Given the description of an element on the screen output the (x, y) to click on. 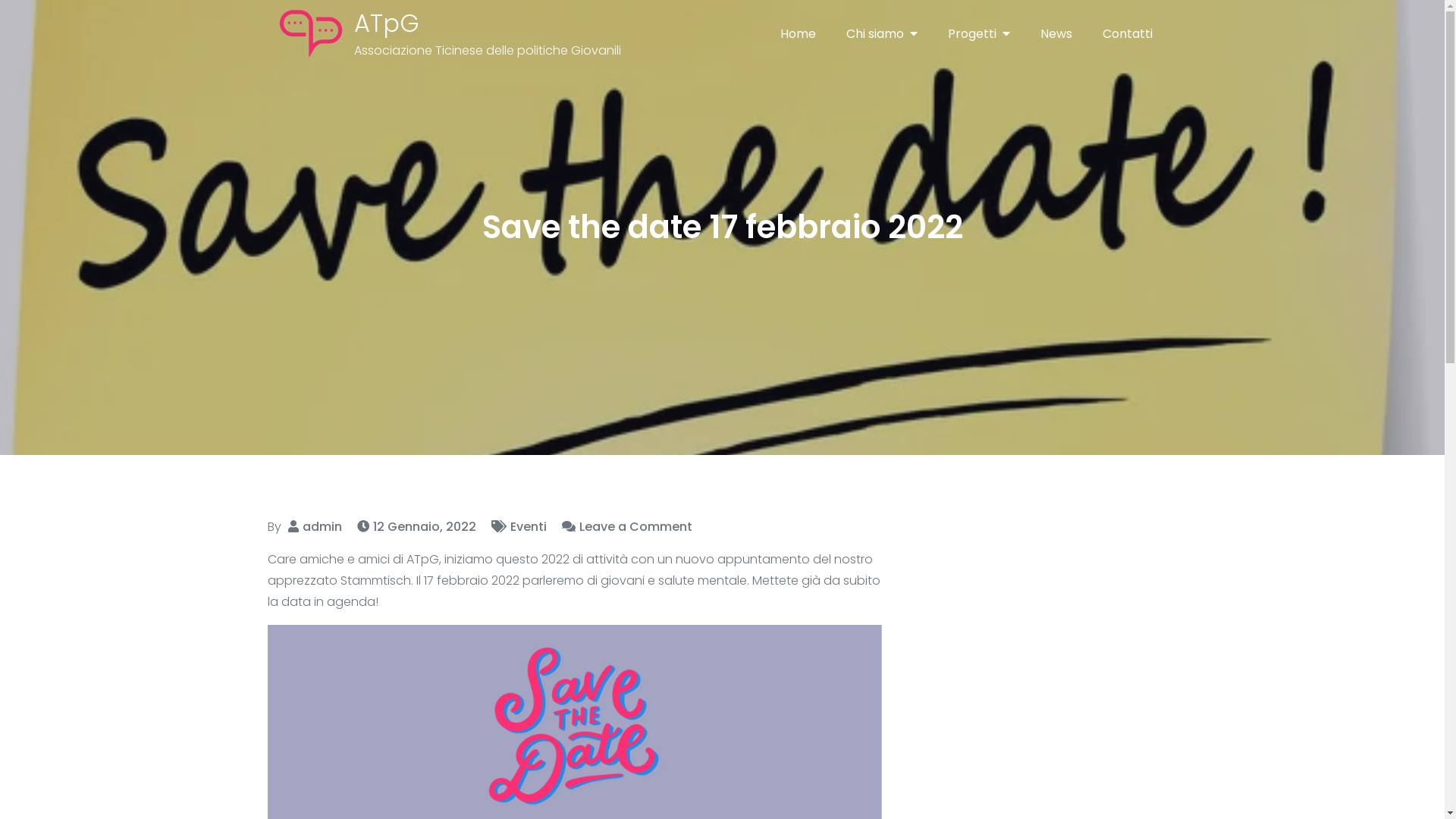
Progetti Element type: text (978, 33)
admin Element type: text (321, 526)
12 Gennaio, 2022 Element type: text (415, 526)
Eventi Element type: text (527, 526)
Leave a Comment
on Save the date 17 febbraio 2022 Element type: text (626, 526)
News Element type: text (1055, 33)
Skip to content Element type: text (0, 0)
ATpG Element type: text (386, 23)
Chi siamo Element type: text (881, 33)
Contatti Element type: text (1127, 33)
Home Element type: text (796, 33)
